Given the description of an element on the screen output the (x, y) to click on. 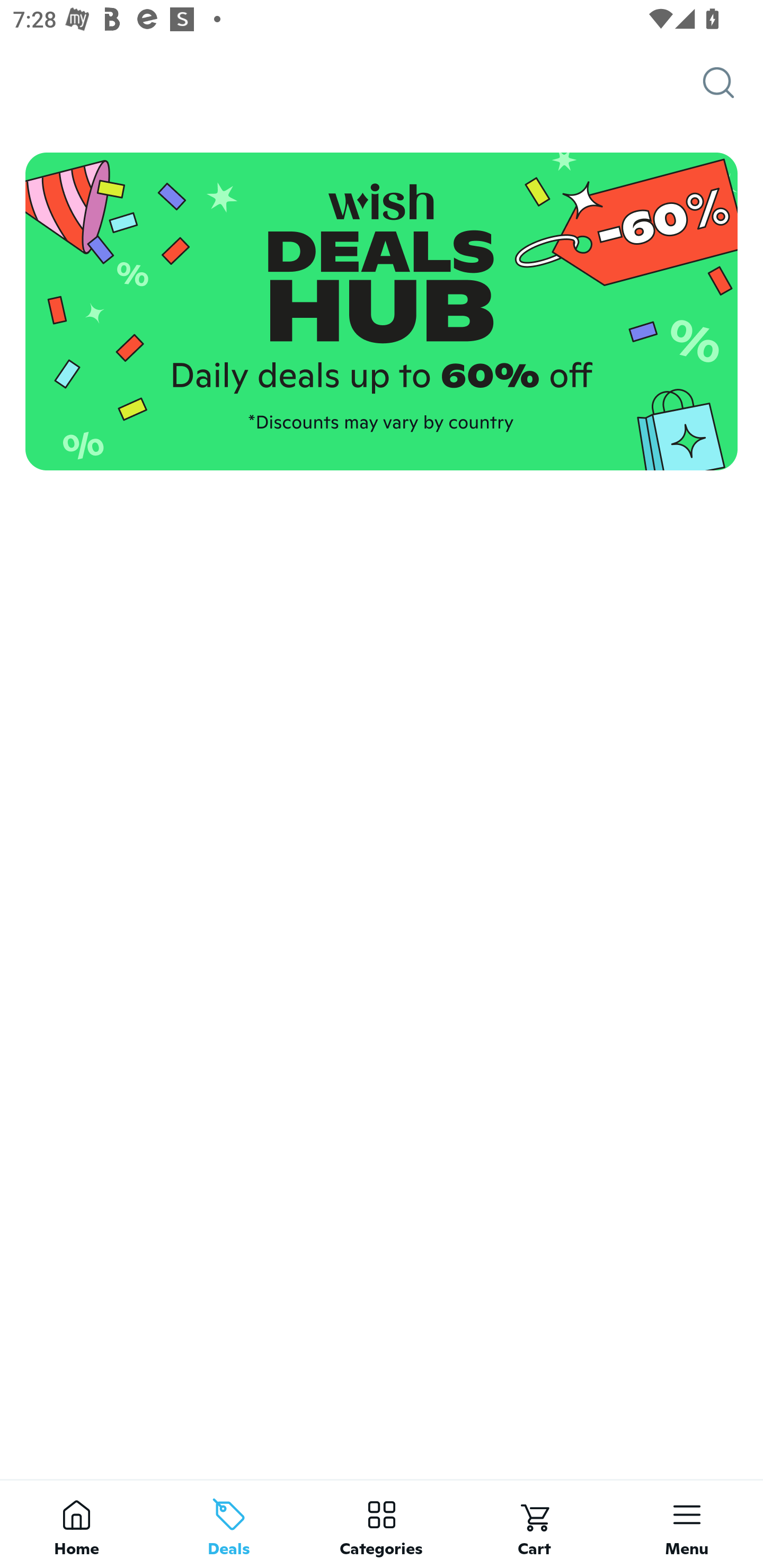
Search (732, 82)
Home (76, 1523)
Deals (228, 1523)
Categories (381, 1523)
Cart (533, 1523)
Menu (686, 1523)
